Given the description of an element on the screen output the (x, y) to click on. 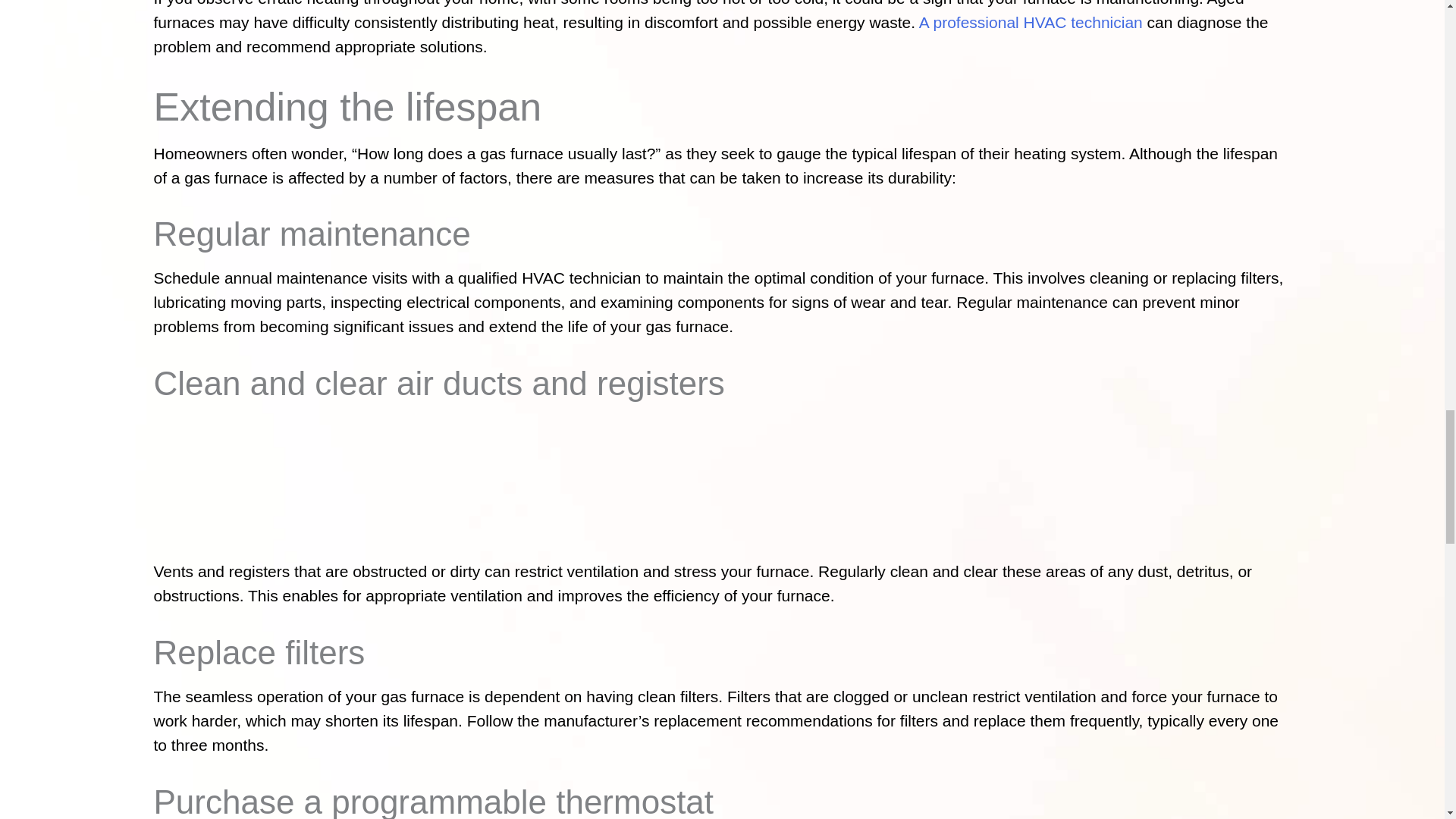
drew-beamer-sj-LzquLf7M-unsplash (721, 487)
